Given the description of an element on the screen output the (x, y) to click on. 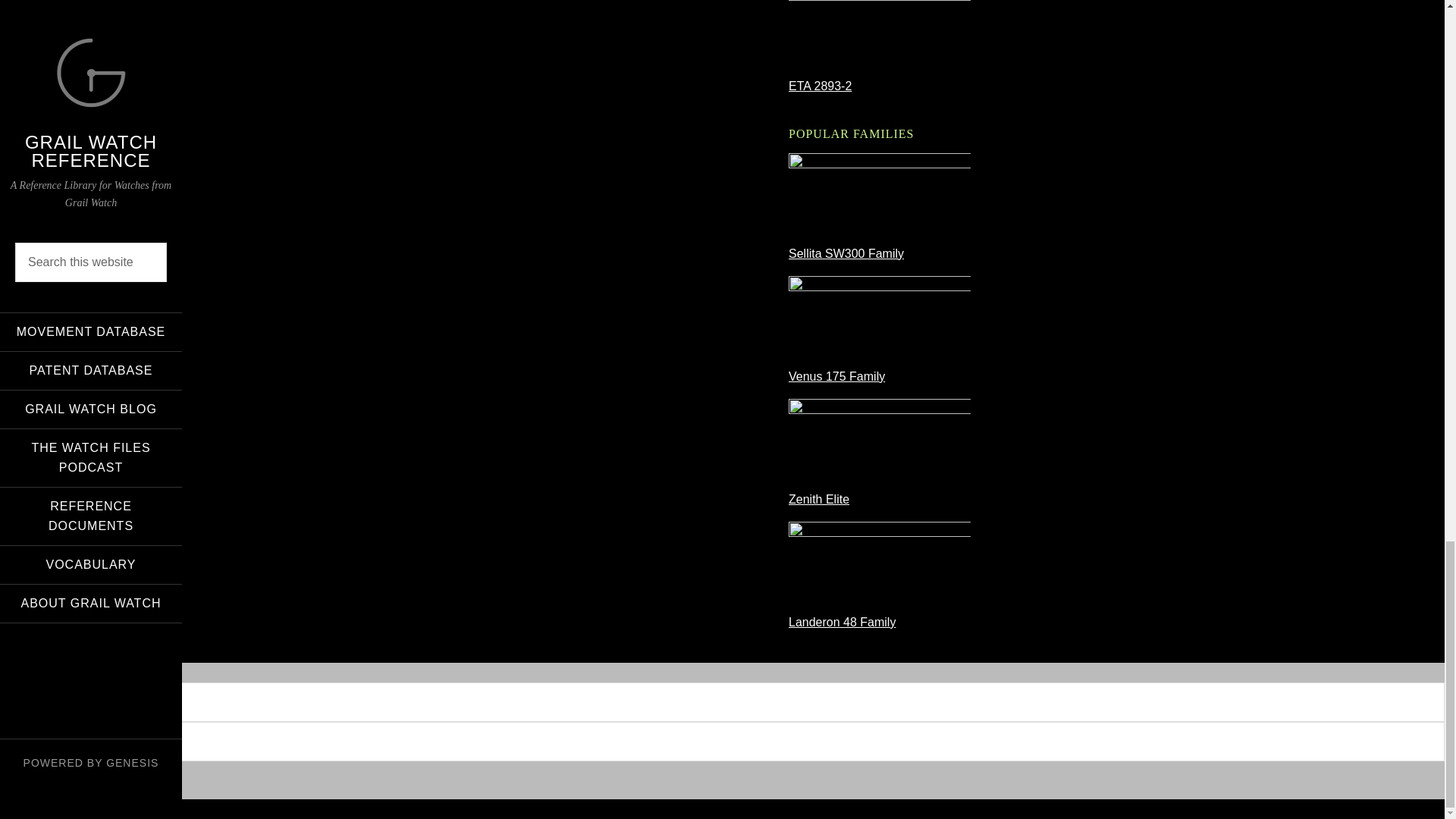
Subscribe (56, 780)
